Given the description of an element on the screen output the (x, y) to click on. 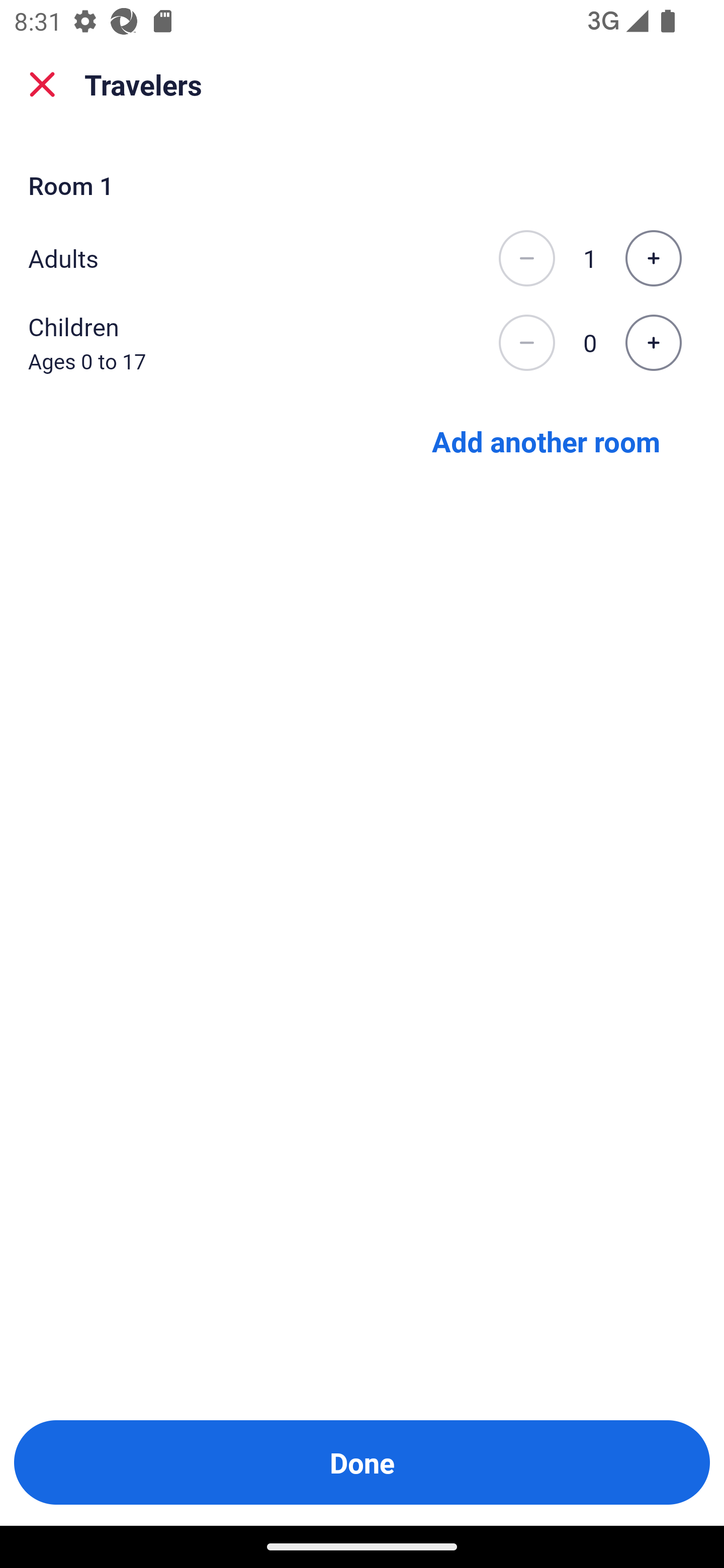
close (42, 84)
Decrease the number of adults (526, 258)
Increase the number of adults (653, 258)
Decrease the number of children (526, 343)
Increase the number of children (653, 343)
Add another room (545, 440)
Done (361, 1462)
